Given the description of an element on the screen output the (x, y) to click on. 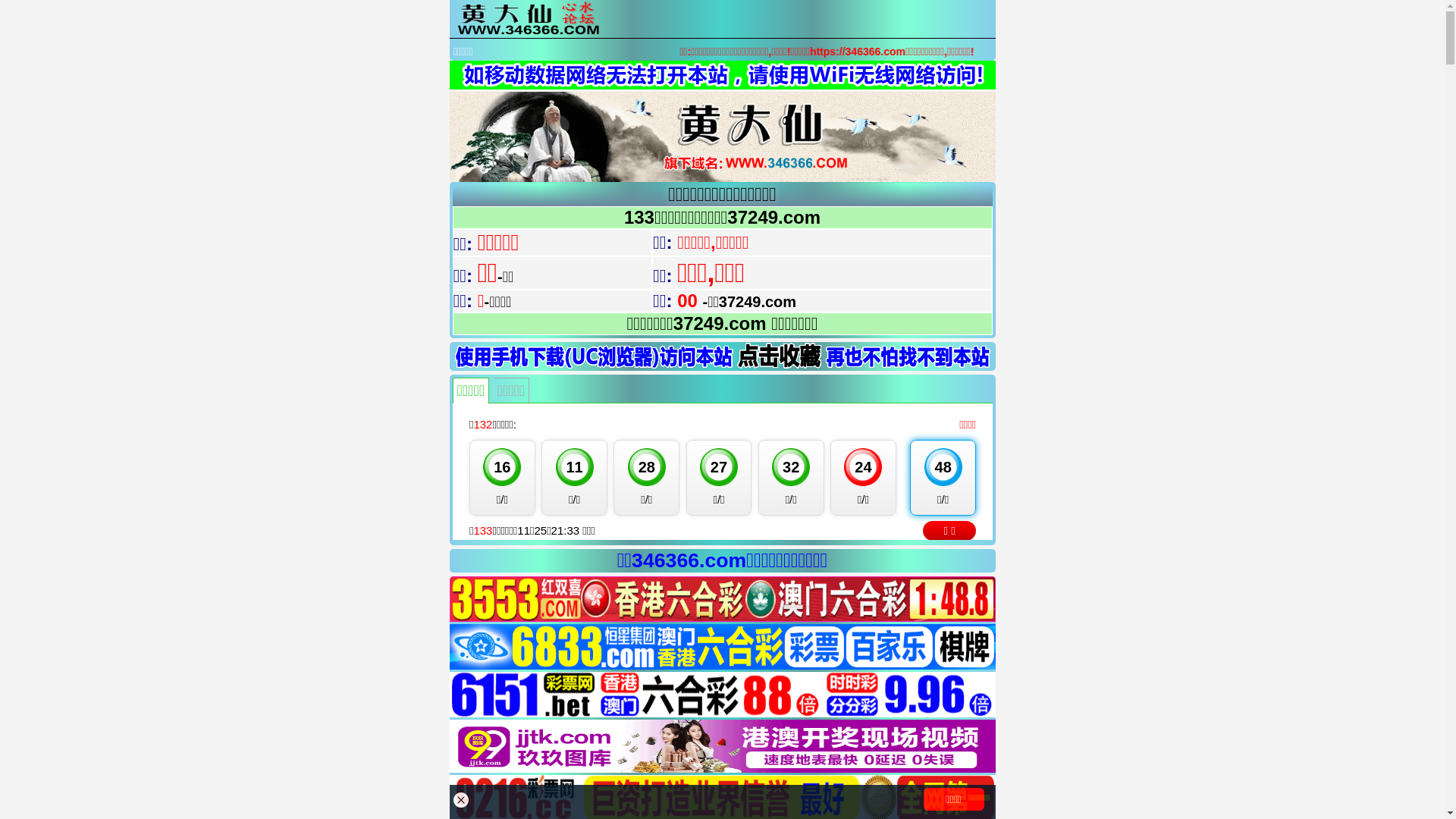
0 Element type: hover (721, 646)
0 Element type: hover (721, 598)
0 Element type: hover (721, 745)
0 Element type: hover (721, 694)
